Given the description of an element on the screen output the (x, y) to click on. 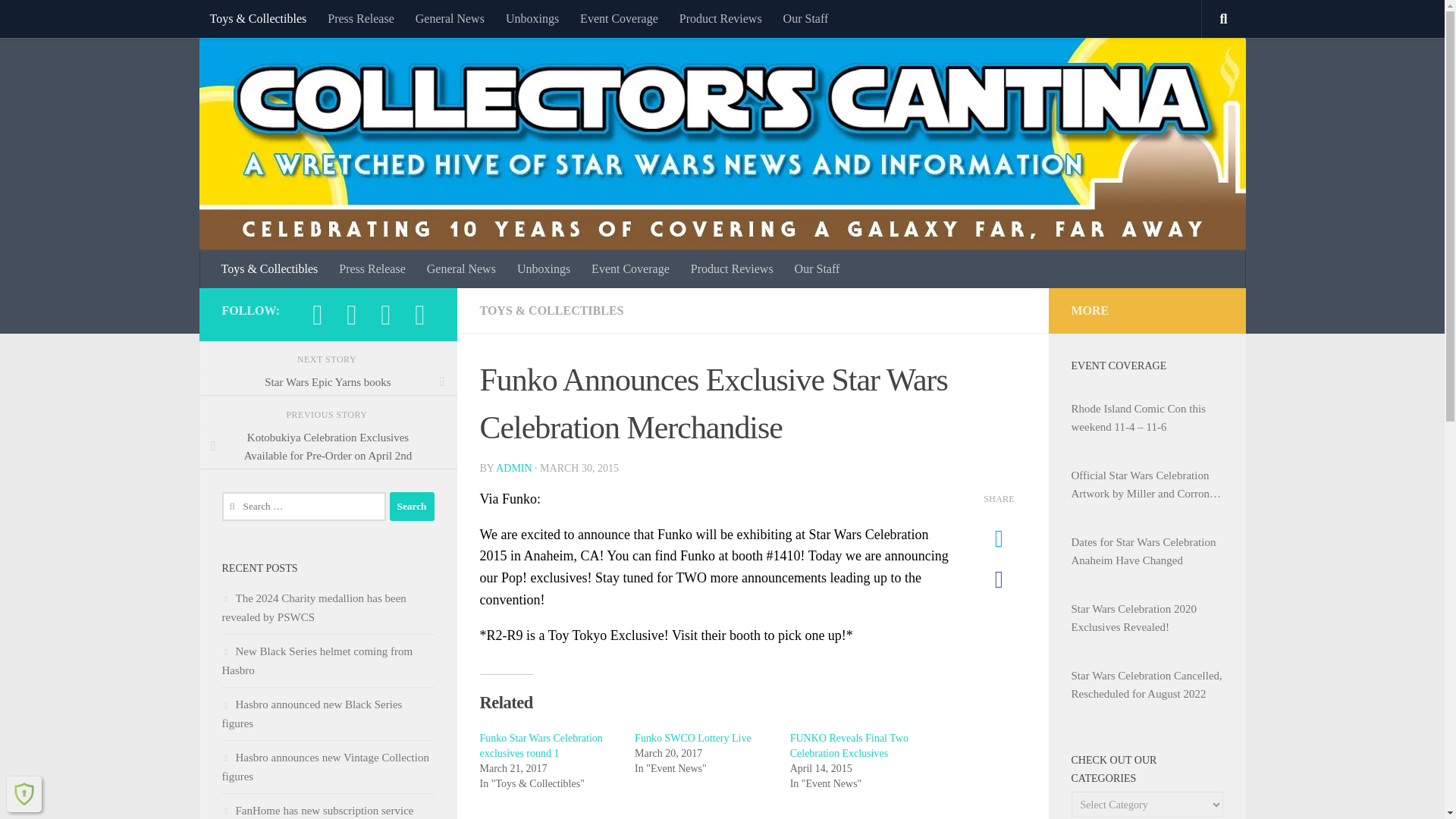
General News (449, 18)
Funko SWCO Lottery Live (692, 737)
Our Staff (817, 269)
Skip to content (59, 20)
Search (411, 506)
FUNKO Reveals Final Two Celebration Exclusives (849, 745)
Press Release (360, 18)
Search (411, 506)
Event Coverage (618, 18)
Funko SWCO Lottery Live (692, 737)
General News (461, 269)
Funko Star Wars Celebration exclusives round 1 (540, 745)
Follow us on Facebook (316, 315)
Product Reviews (720, 18)
Unboxings (543, 269)
